Given the description of an element on the screen output the (x, y) to click on. 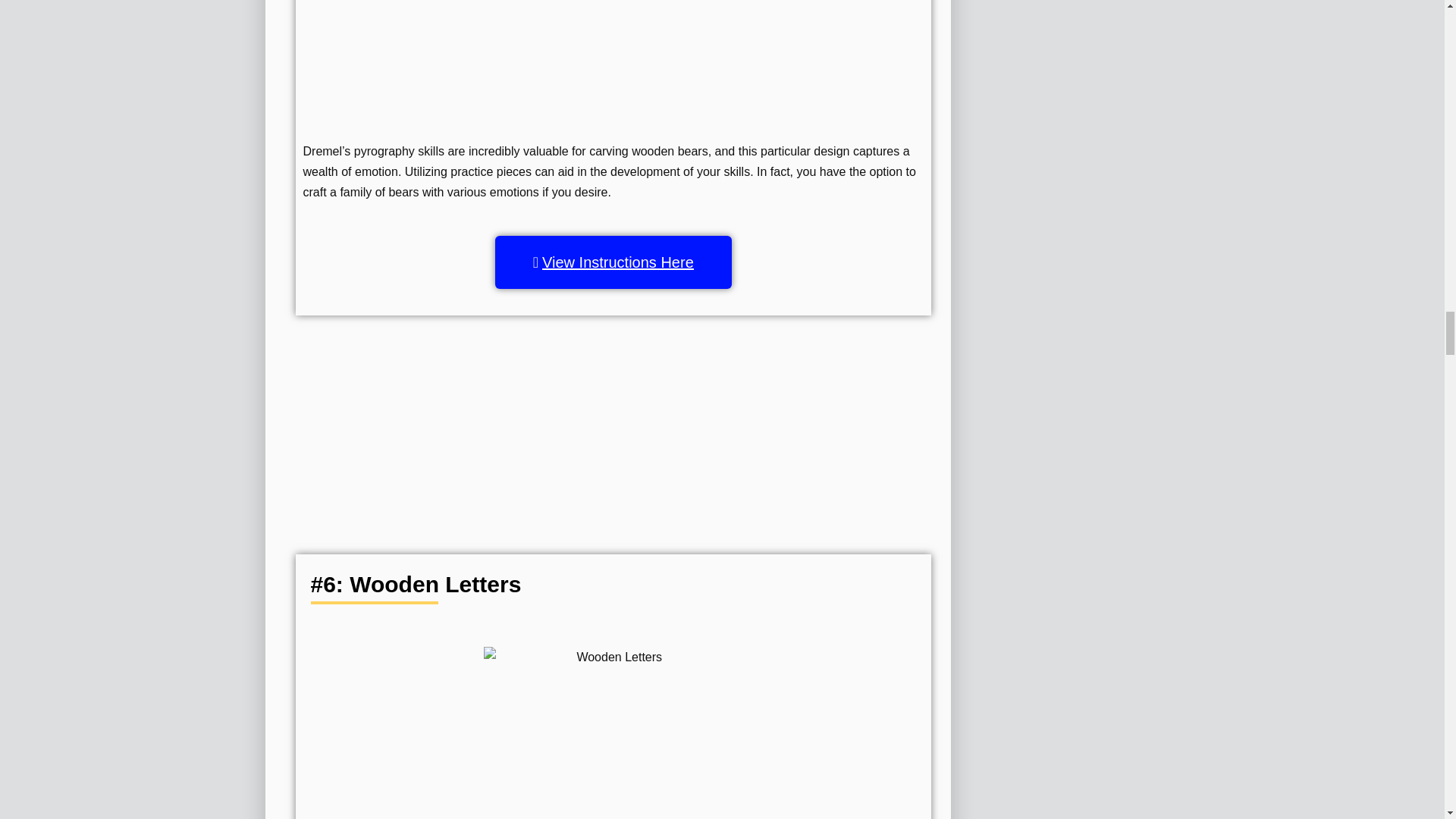
Wooden Letters (612, 733)
View Instructions Here (613, 262)
